Given the description of an element on the screen output the (x, y) to click on. 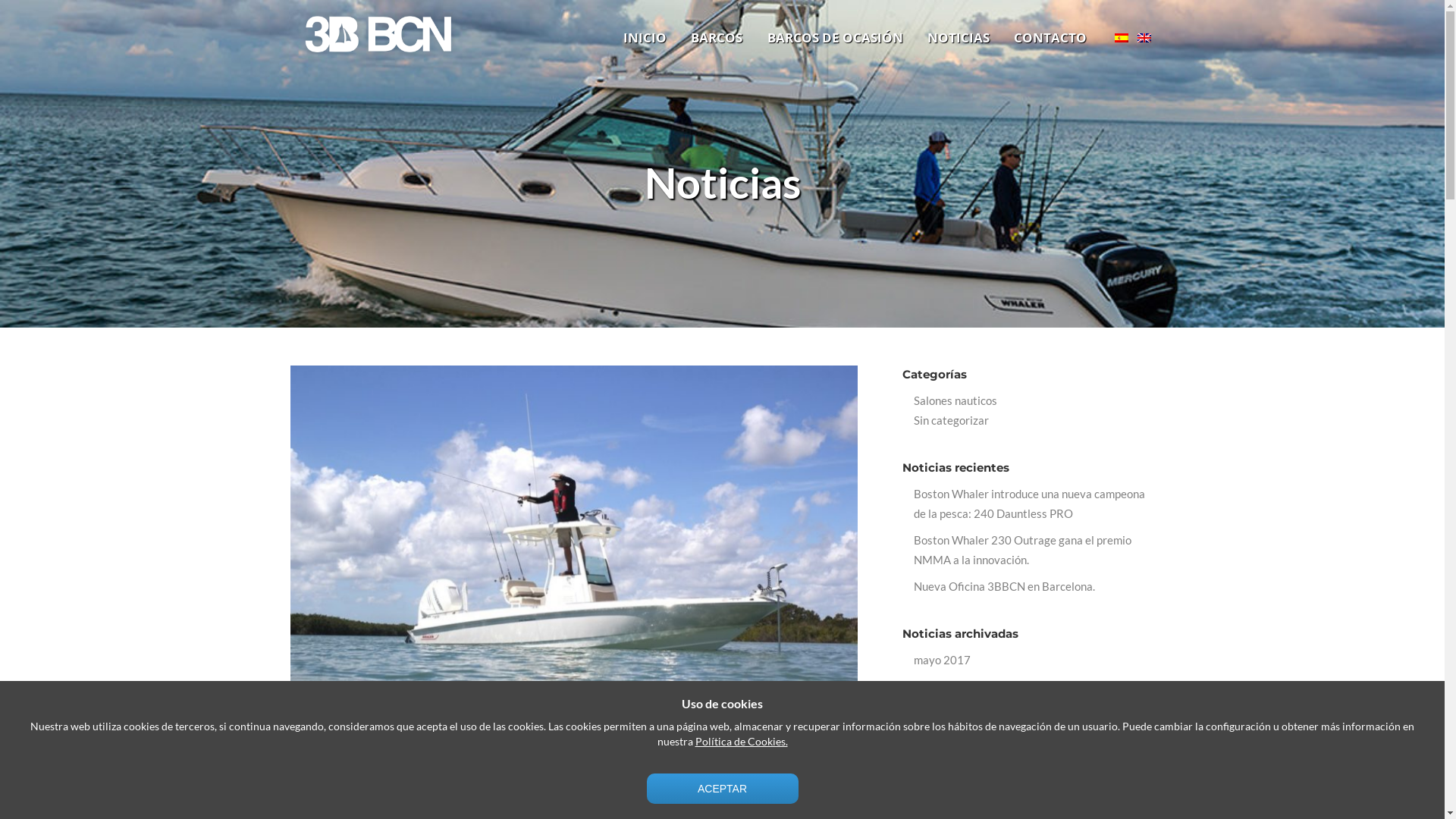
Nueva Oficina 3BBCN en Barcelona. Element type: text (1004, 586)
CONTACTO Element type: text (1050, 37)
Salones nauticos Element type: text (955, 400)
mayo 2017 Element type: text (941, 659)
Sin categorizar Element type: text (950, 419)
BARCOS Element type: text (716, 37)
English Element type: hover (1144, 37)
NOTICIAS Element type: text (958, 37)
ACEPTAR Element type: text (721, 788)
INICIO Element type: text (644, 37)
